Given the description of an element on the screen output the (x, y) to click on. 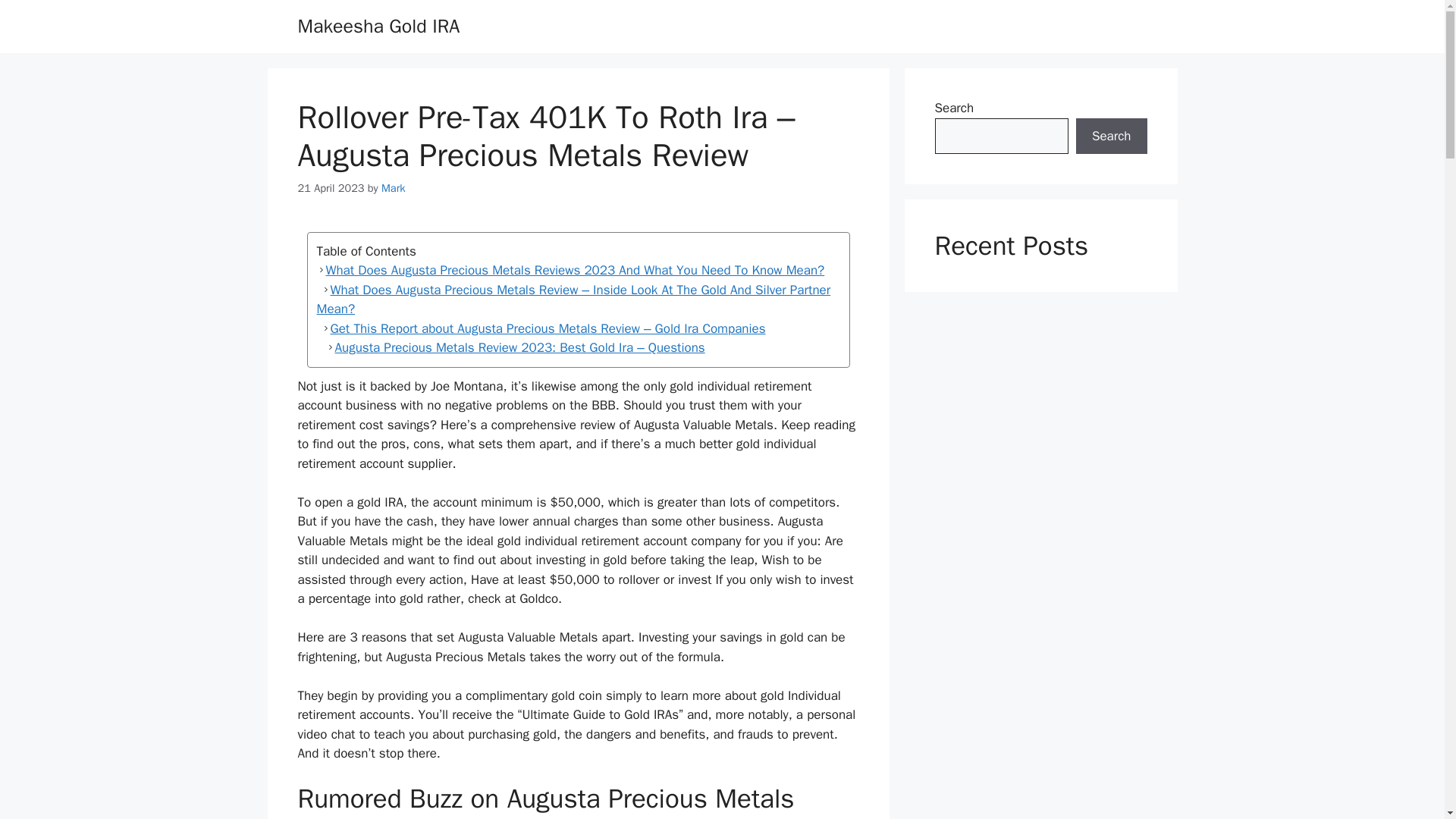
Makeesha Gold IRA (378, 25)
View all posts by Mark (392, 187)
Search (1111, 135)
Mark (392, 187)
